Given the description of an element on the screen output the (x, y) to click on. 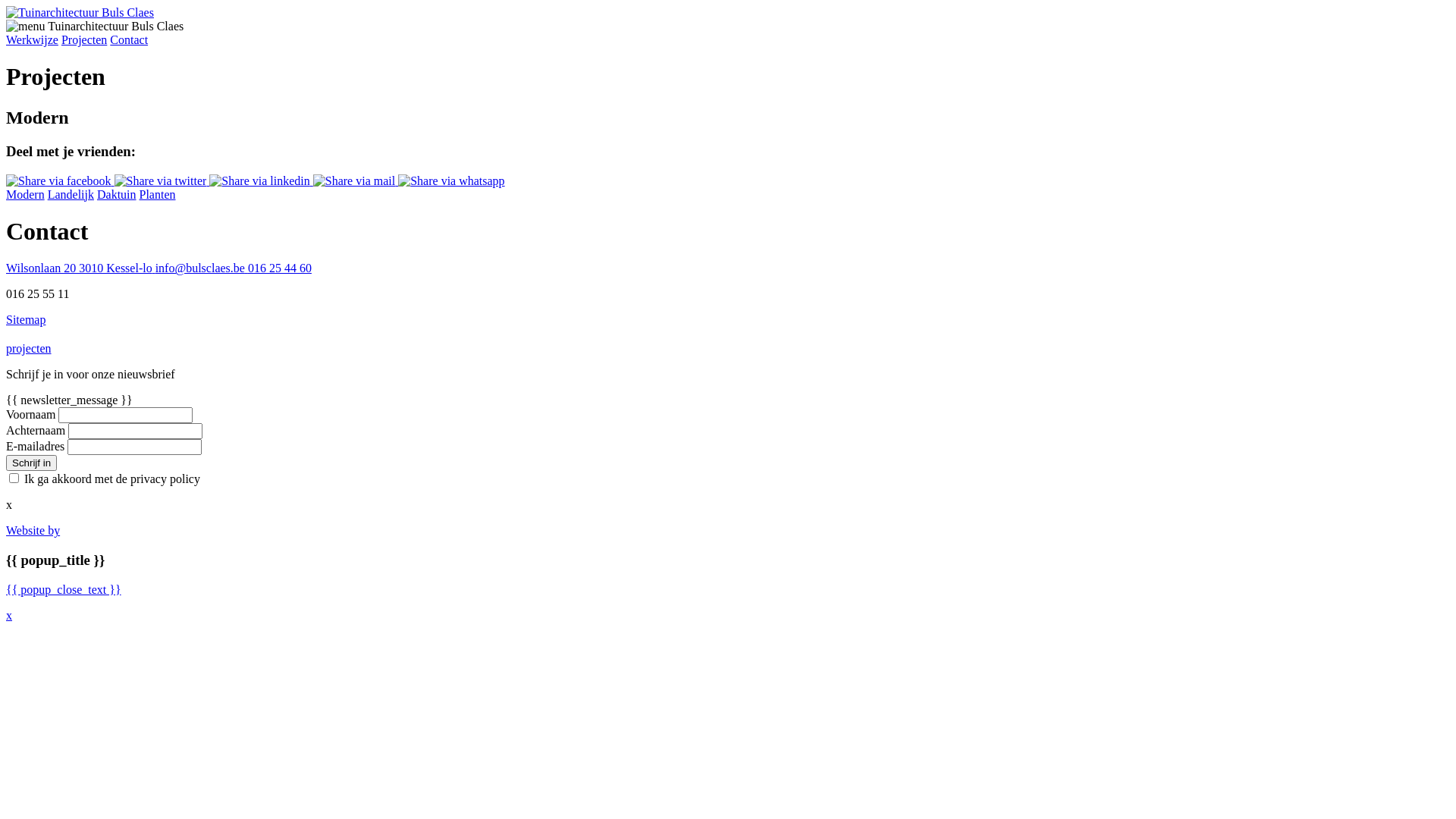
x Element type: text (9, 614)
projecten Element type: text (28, 348)
016 25 44 60 Element type: text (279, 267)
Werkwijze Element type: text (32, 39)
info@bulsclaes.be Element type: text (201, 267)
Website by Element type: text (32, 530)
Wilsonlaan 20 3010 Kessel-lo Element type: text (80, 267)
Daktuin Element type: text (116, 194)
Share via linkedin Element type: hover (260, 180)
Share via facebook Element type: hover (60, 180)
Tuinarchitectuur Buls Claes Element type: hover (79, 12)
Landelijk Element type: text (70, 194)
Sitemap Element type: text (25, 319)
Share via twitter Element type: hover (162, 180)
Contact Element type: text (128, 39)
Share via whatsapp Element type: hover (451, 180)
Modern Element type: text (25, 194)
Projecten Element type: text (83, 39)
Planten Element type: text (157, 194)
Schrijf in Element type: text (31, 462)
Share via mail Element type: hover (355, 180)
